Given the description of an element on the screen output the (x, y) to click on. 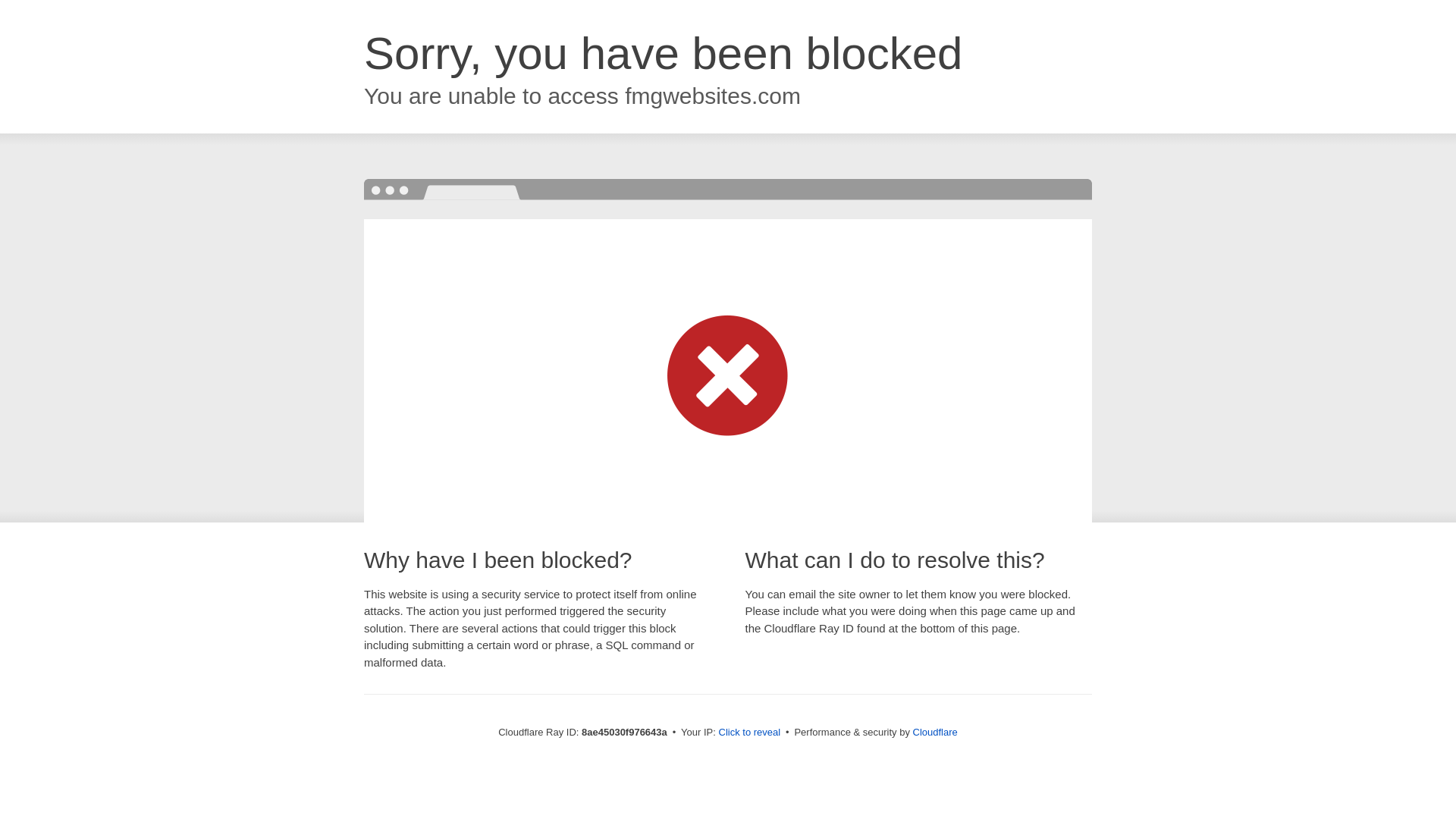
Cloudflare (935, 731)
Click to reveal (749, 732)
